Given the description of an element on the screen output the (x, y) to click on. 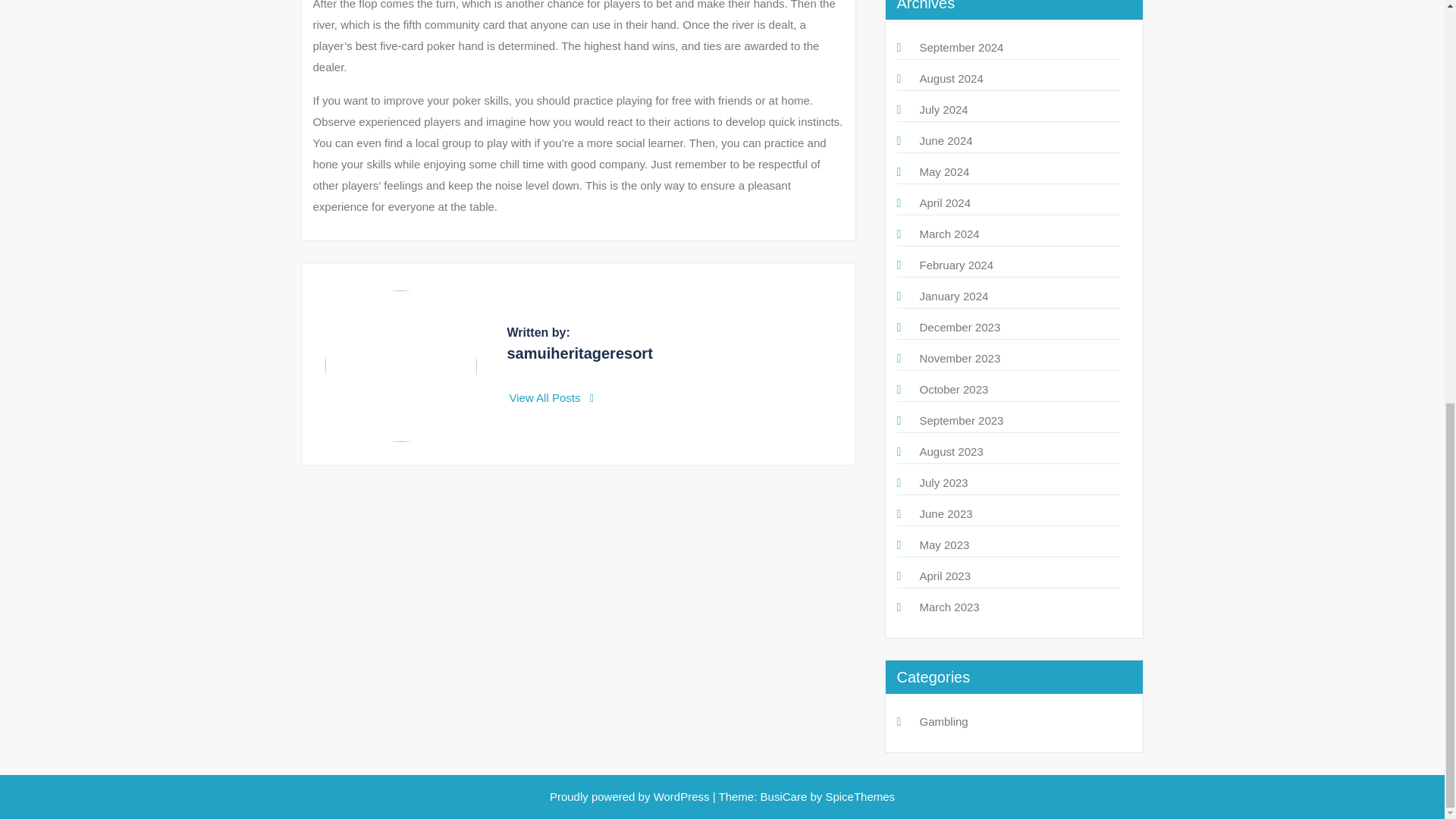
April 2024 (944, 202)
August 2023 (950, 451)
SpiceThemes (858, 796)
June 2024 (945, 140)
November 2023 (959, 358)
September 2023 (960, 420)
February 2024 (955, 264)
March 2023 (948, 606)
June 2023 (945, 513)
May 2023 (943, 544)
